Given the description of an element on the screen output the (x, y) to click on. 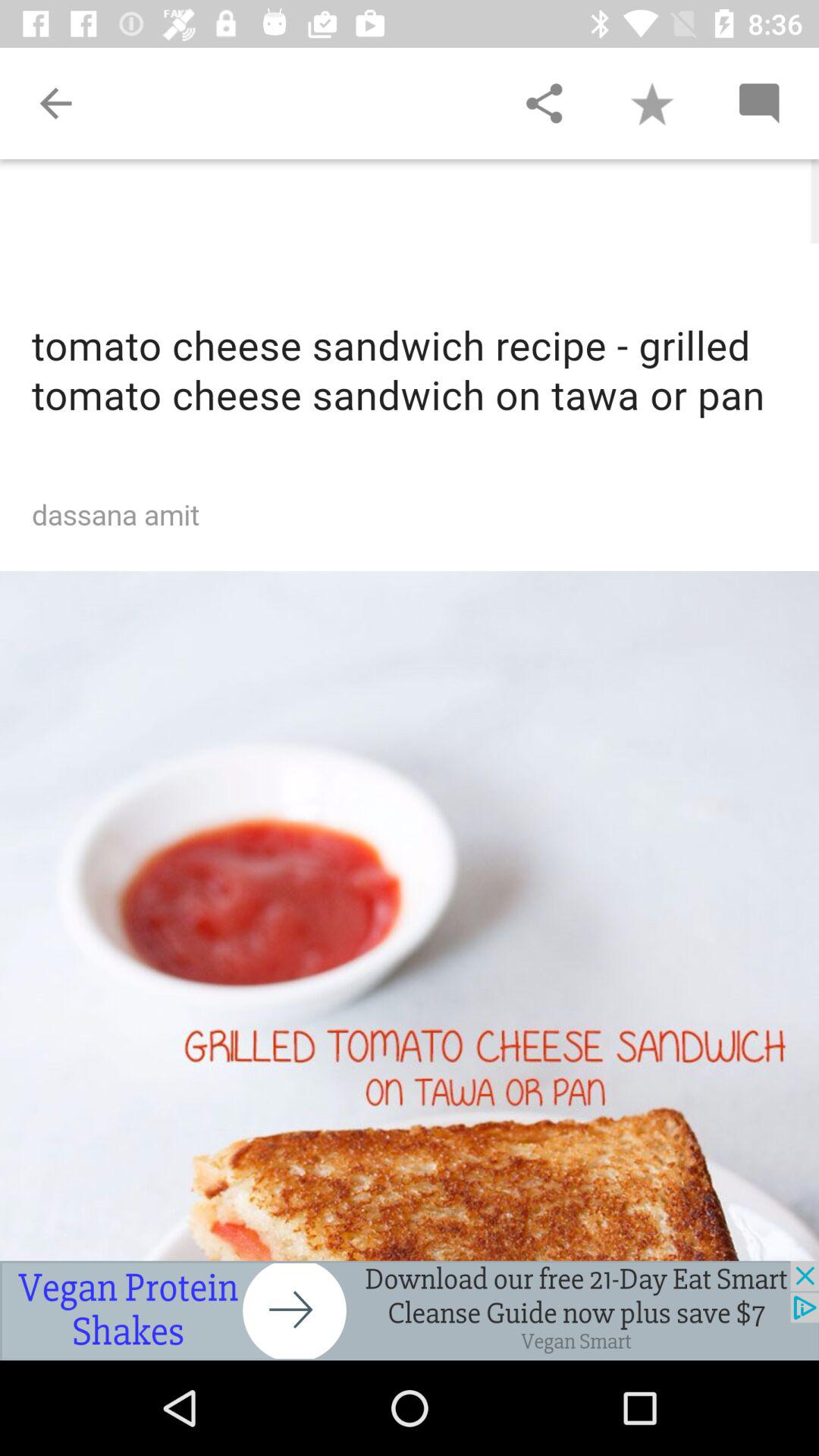
click for advertisement (409, 1310)
